Given the description of an element on the screen output the (x, y) to click on. 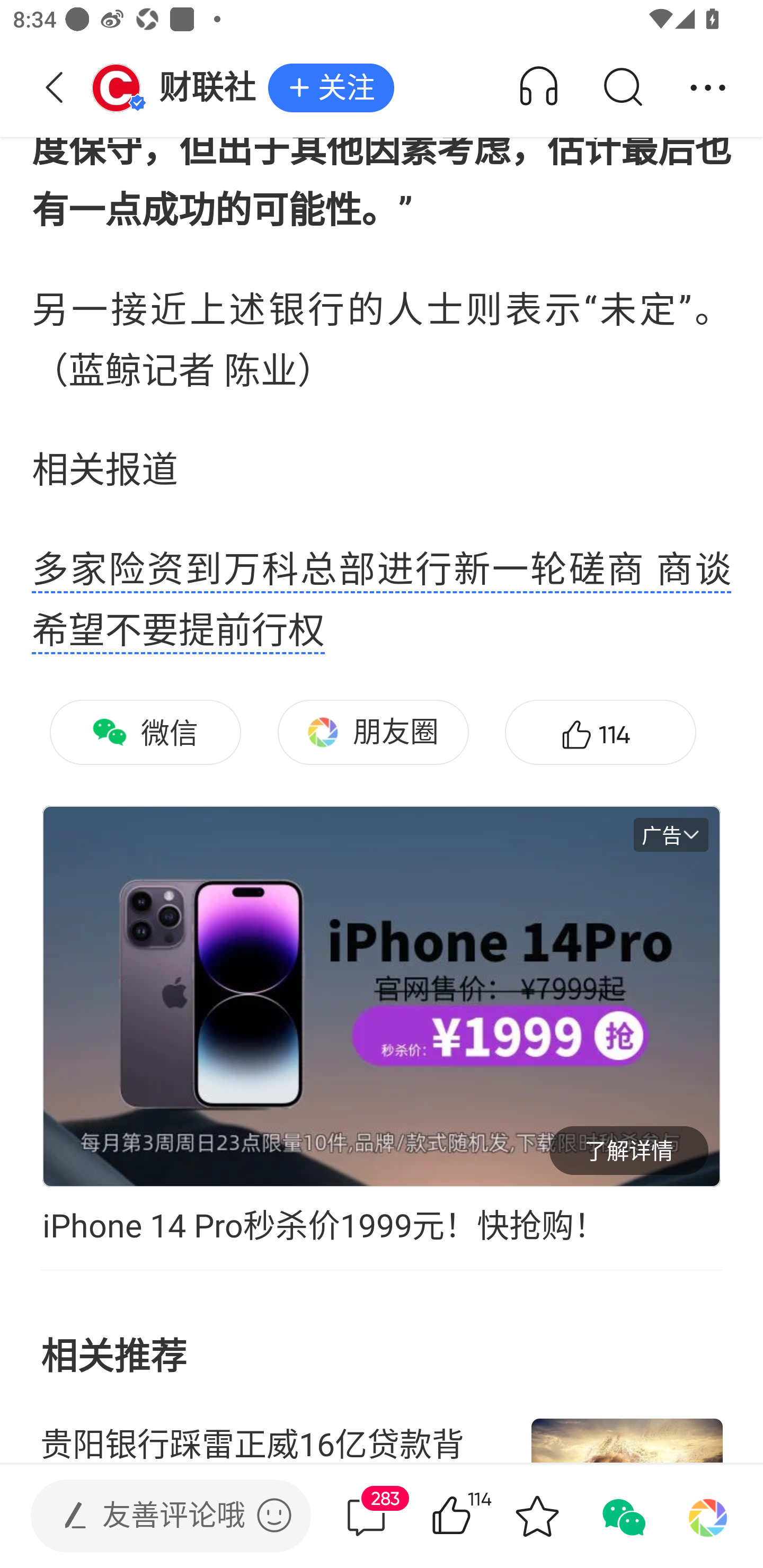
财联社 (179, 87)
搜索  (622, 87)
分享  (707, 87)
 返回 (54, 87)
 关注 (330, 88)
多家险资到万科总部进行新一轮磋商 商谈希望不要提前行权 (381, 601)
微信 分享到微信 (145, 732)
朋友圈 分享到朋友圈 (373, 732)
114赞 (600, 732)
广告 (671, 834)
了解详情 (628, 1149)
iPhone 14 Pro秒杀价1999元！快抢购！ (381, 1225)
发表评论  友善评论哦 发表评论  (155, 1516)
283评论  283 评论 (365, 1516)
114赞 (476, 1516)
收藏  (536, 1516)
分享到微信  (622, 1516)
分享到朋友圈 (707, 1516)
 (274, 1515)
